Given the description of an element on the screen output the (x, y) to click on. 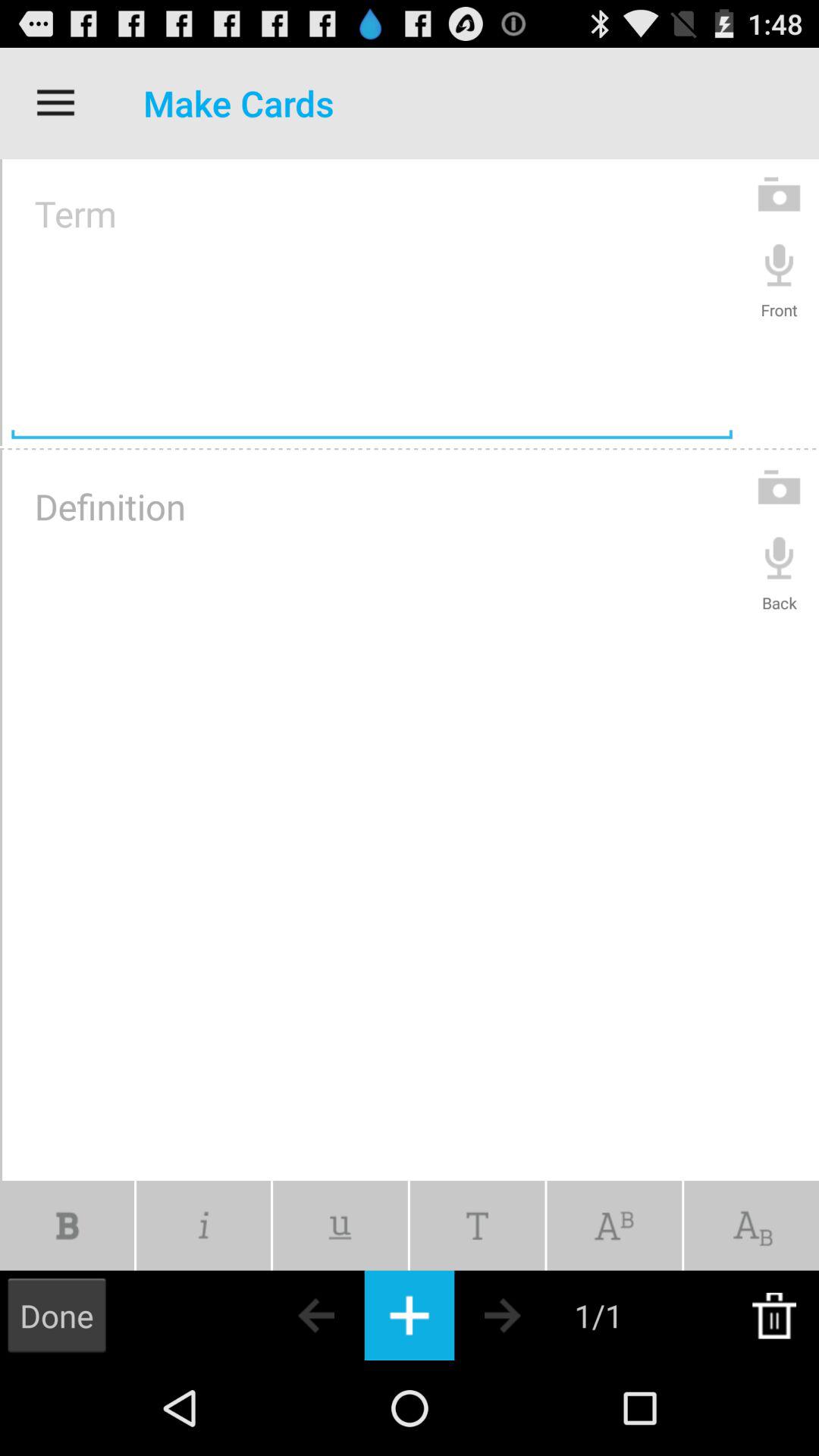
launch the item to the left of the make cards item (55, 103)
